Given the description of an element on the screen output the (x, y) to click on. 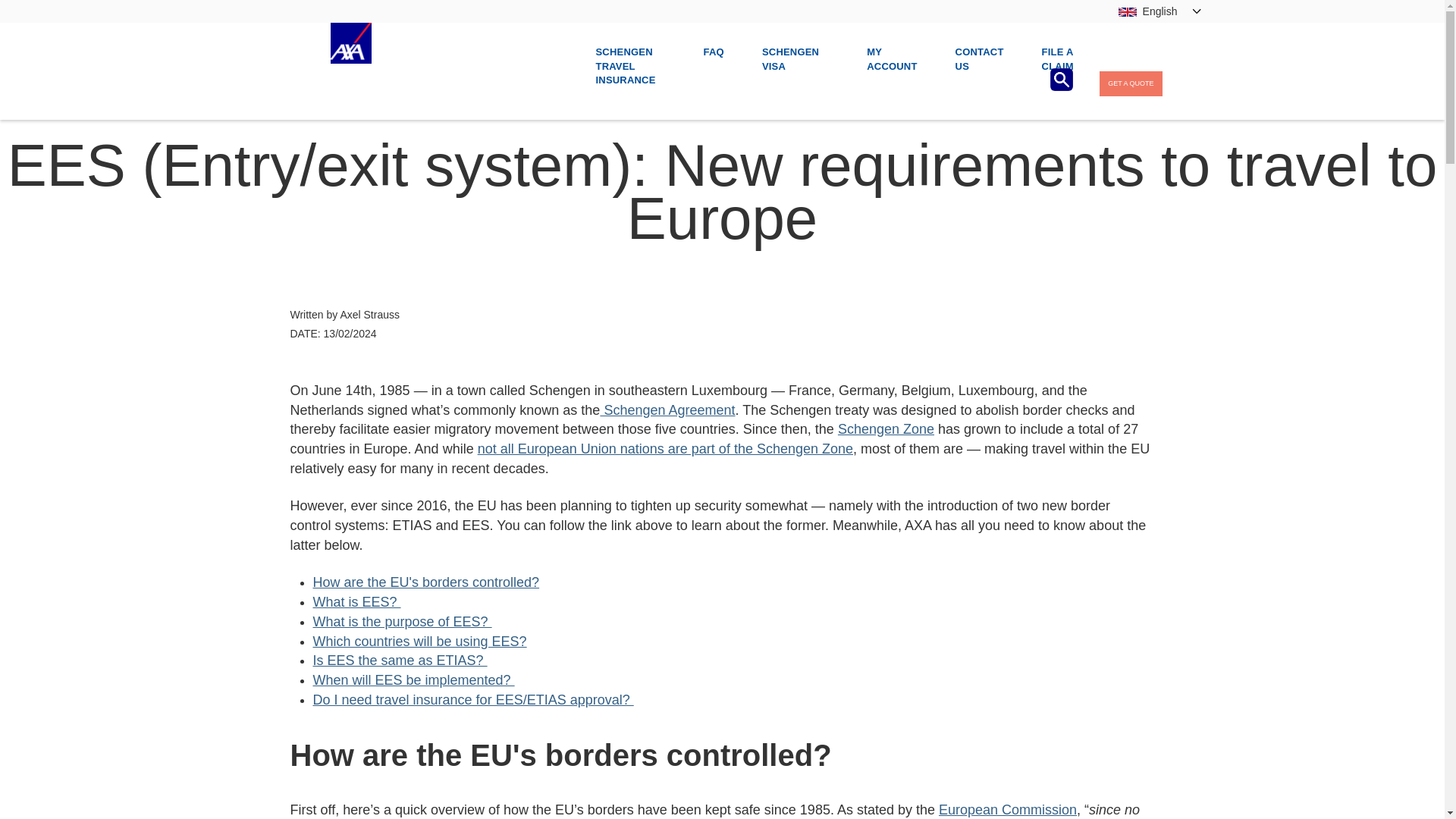
not all European Union nations are part of the Schengen Zone (665, 448)
Which countries will be using EES? (419, 641)
FILE A CLAIM (1058, 66)
MY ACCOUNT (891, 66)
What is the purpose of EES?  (402, 621)
CONTACT US (979, 66)
SCHENGEN TRAVEL INSURANCE (630, 66)
SCHENGEN VISA (794, 66)
How are the EU's borders controlled? (425, 581)
Schengen Zone (886, 428)
